Given the description of an element on the screen output the (x, y) to click on. 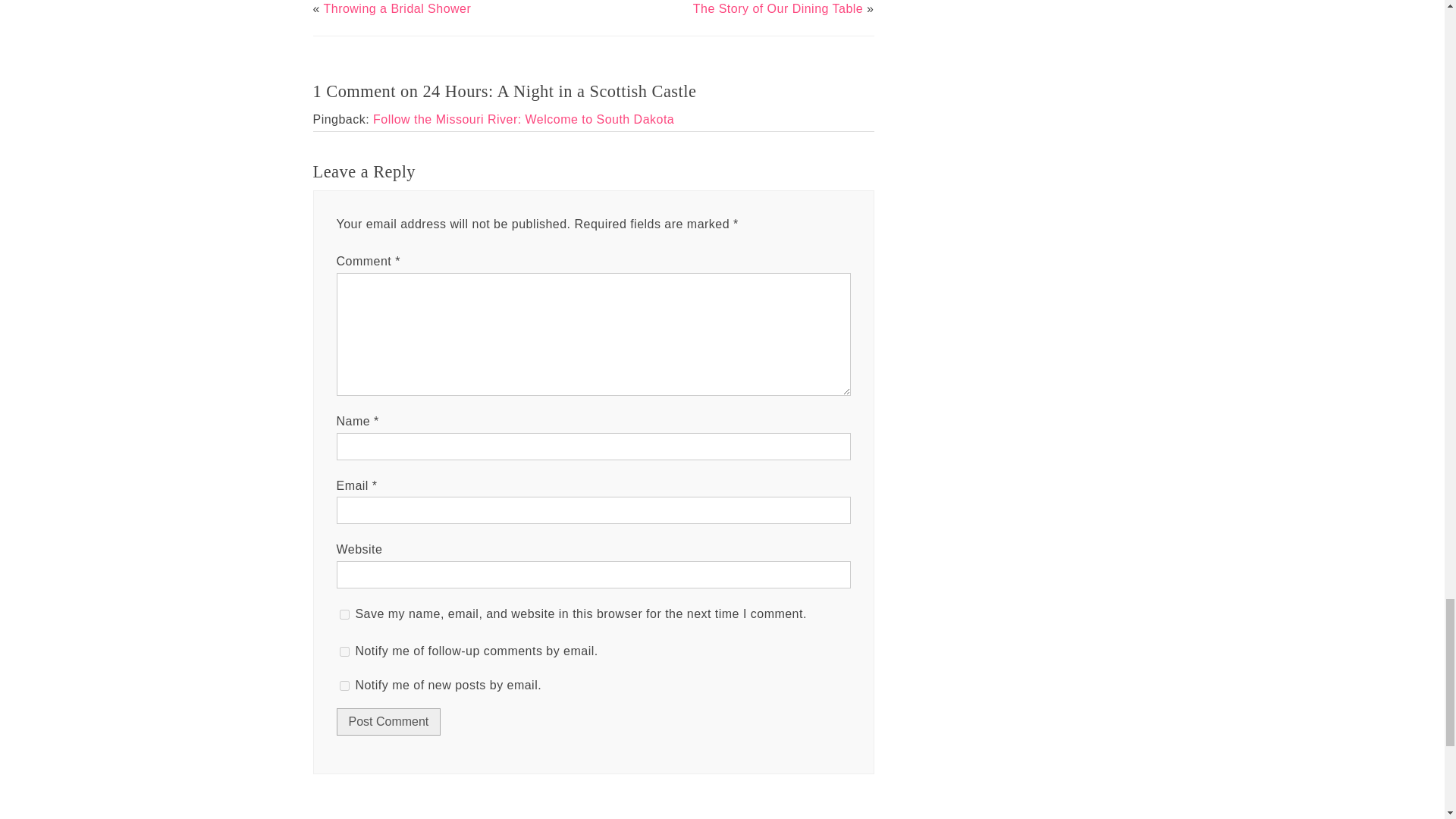
yes (344, 614)
subscribe (344, 685)
Post Comment (388, 721)
subscribe (344, 651)
